Given the description of an element on the screen output the (x, y) to click on. 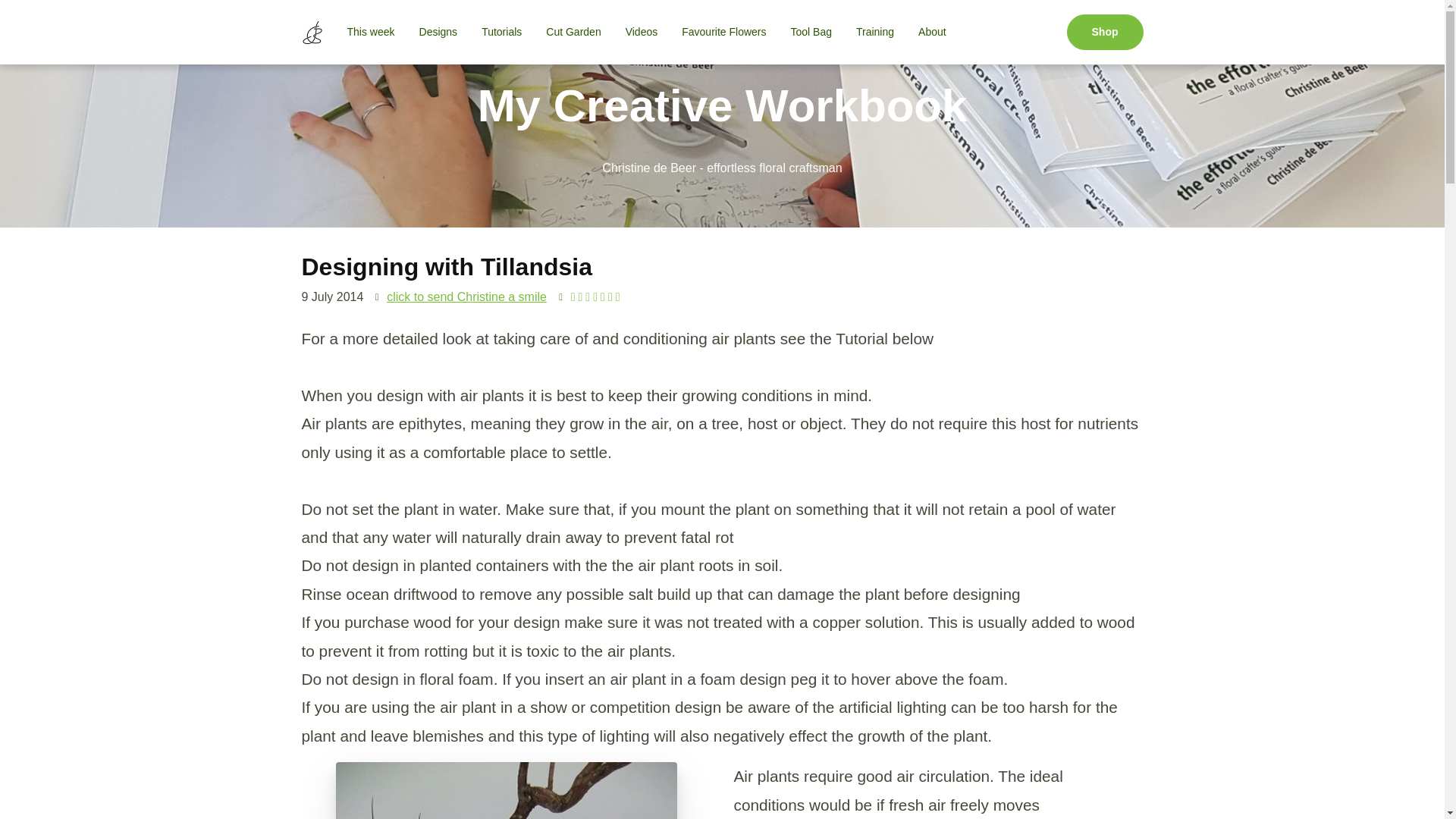
click to send Christine a smile (467, 296)
Training (874, 32)
Shop (1103, 31)
Designing with Tillandsia (505, 790)
Designs (438, 32)
click to send Christine a smile (467, 296)
Videos (640, 32)
Cut Garden (573, 32)
Favourite Flowers (723, 32)
About (931, 32)
